Given the description of an element on the screen output the (x, y) to click on. 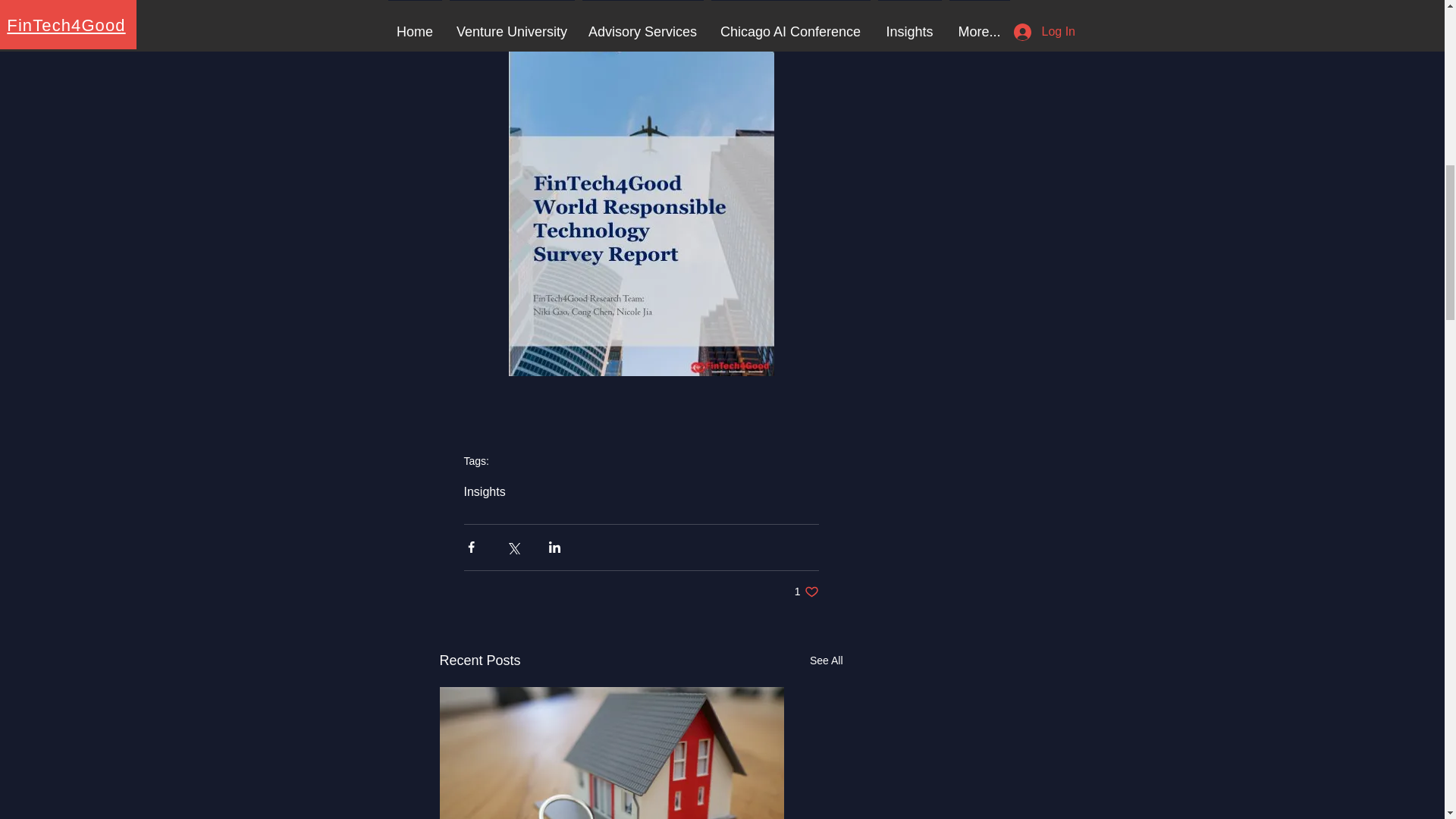
See All (826, 660)
Insights (484, 491)
